Given the description of an element on the screen output the (x, y) to click on. 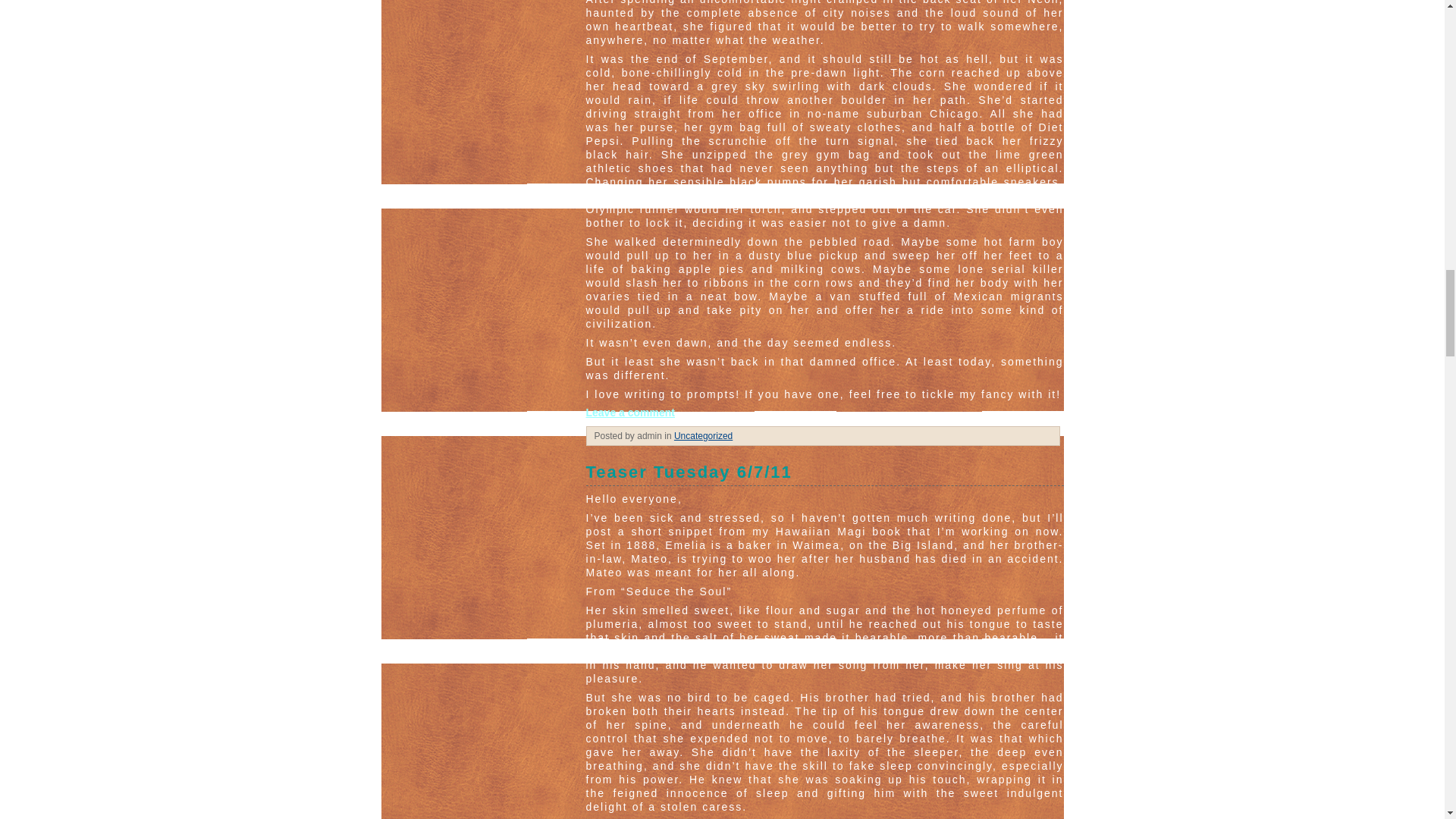
Uncategorized (703, 435)
Leave a comment (630, 412)
